Given the description of an element on the screen output the (x, y) to click on. 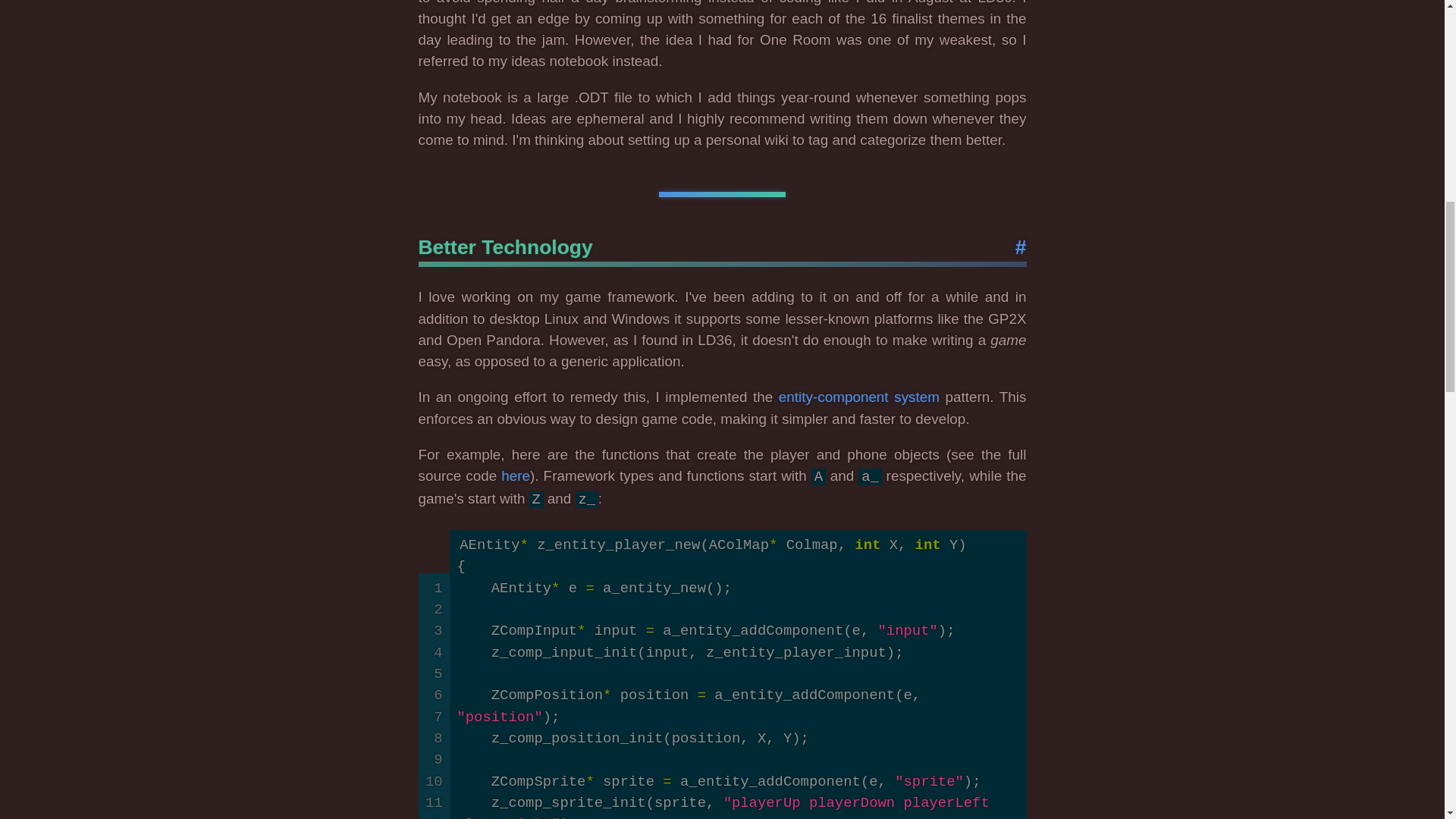
entity-component system (858, 396)
here (514, 475)
